Given the description of an element on the screen output the (x, y) to click on. 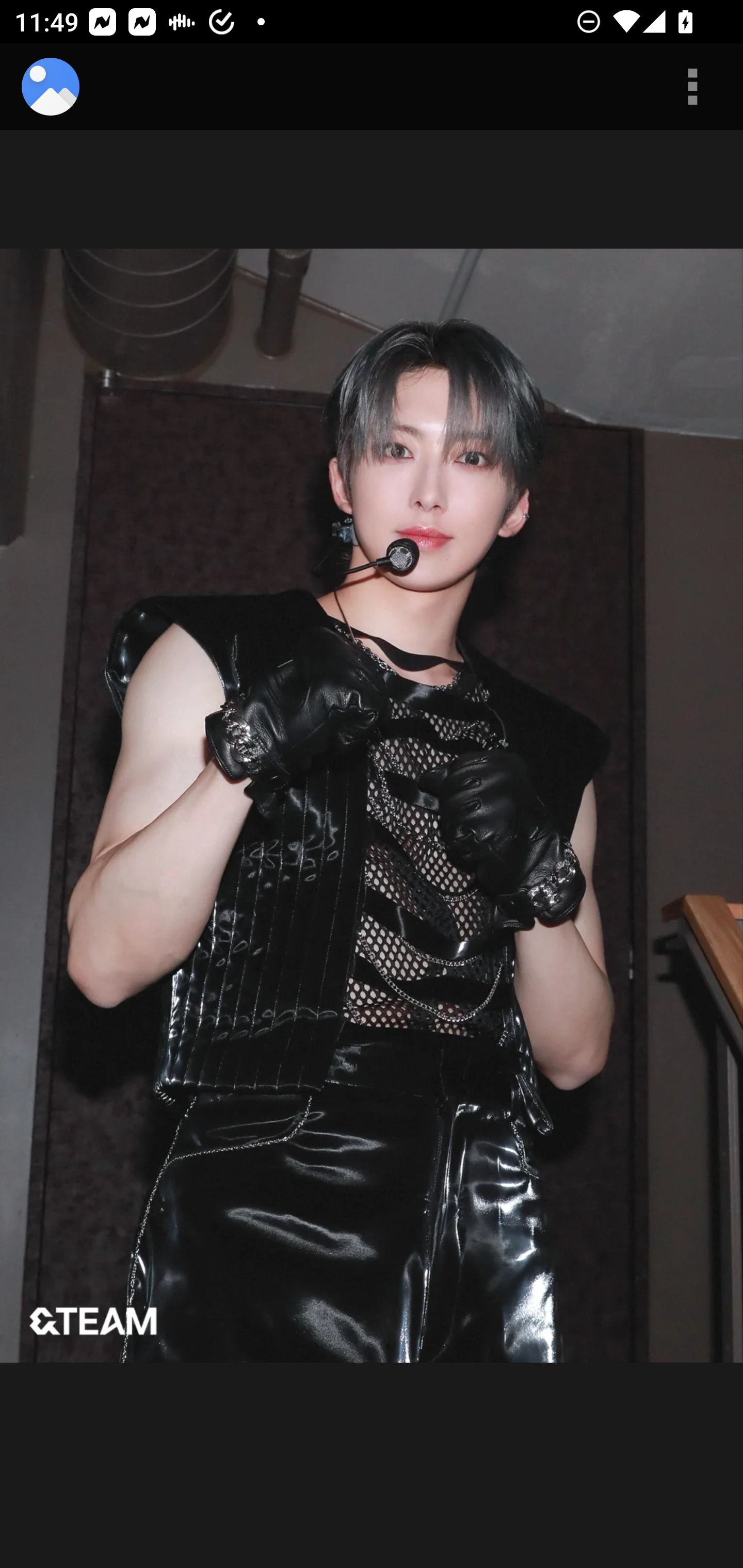
More options (692, 86)
